Given the description of an element on the screen output the (x, y) to click on. 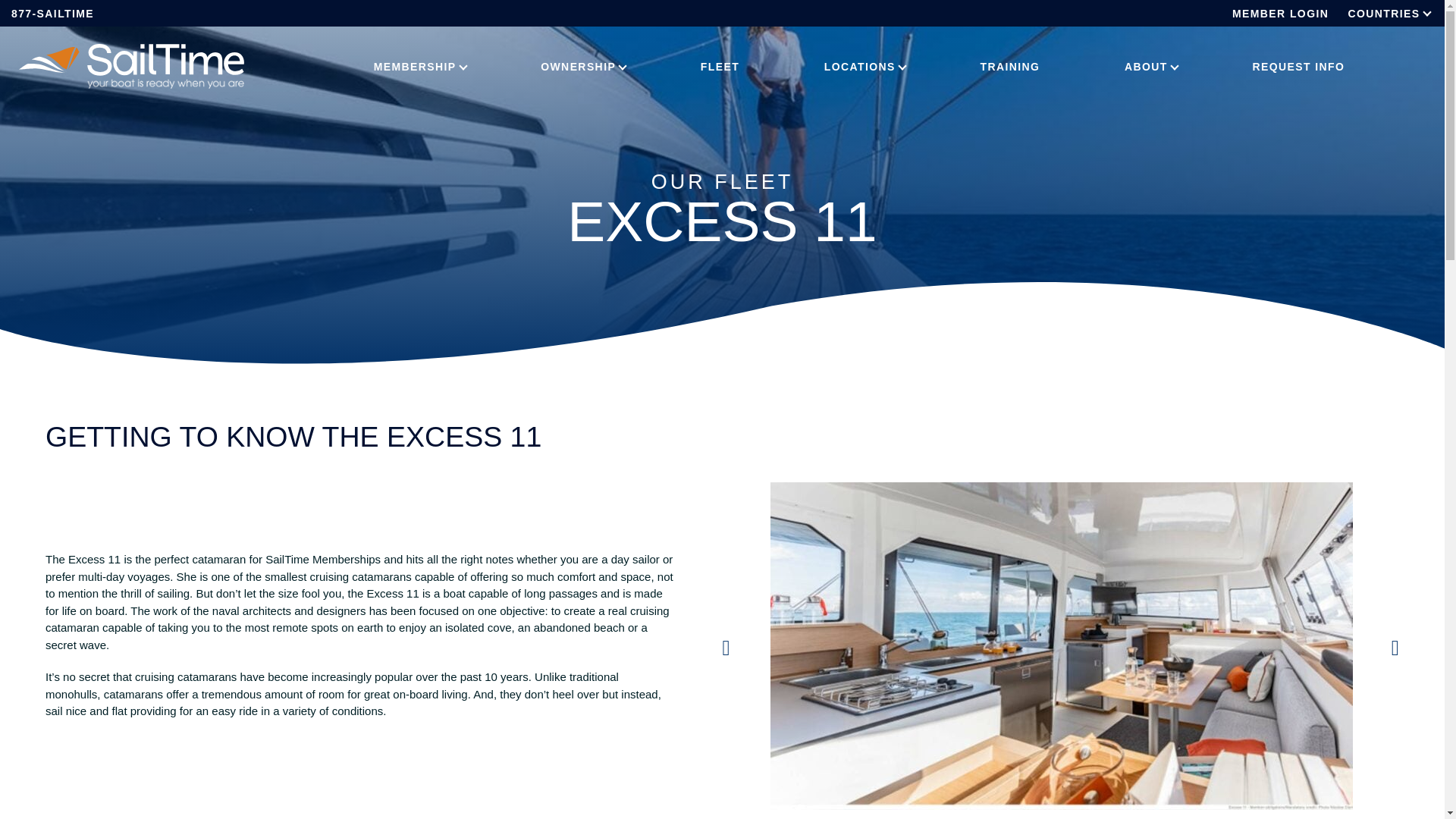
TRAINING (1009, 66)
MEMBERSHIP (414, 66)
LOCATIONS (860, 66)
877-SAILTIME (52, 13)
ABOUT (1146, 66)
REQUEST INFO (1297, 66)
COUNTRIES (1384, 13)
OWNERSHIP (578, 66)
MEMBER LOGIN (1279, 13)
FLEET (719, 66)
